Given the description of an element on the screen output the (x, y) to click on. 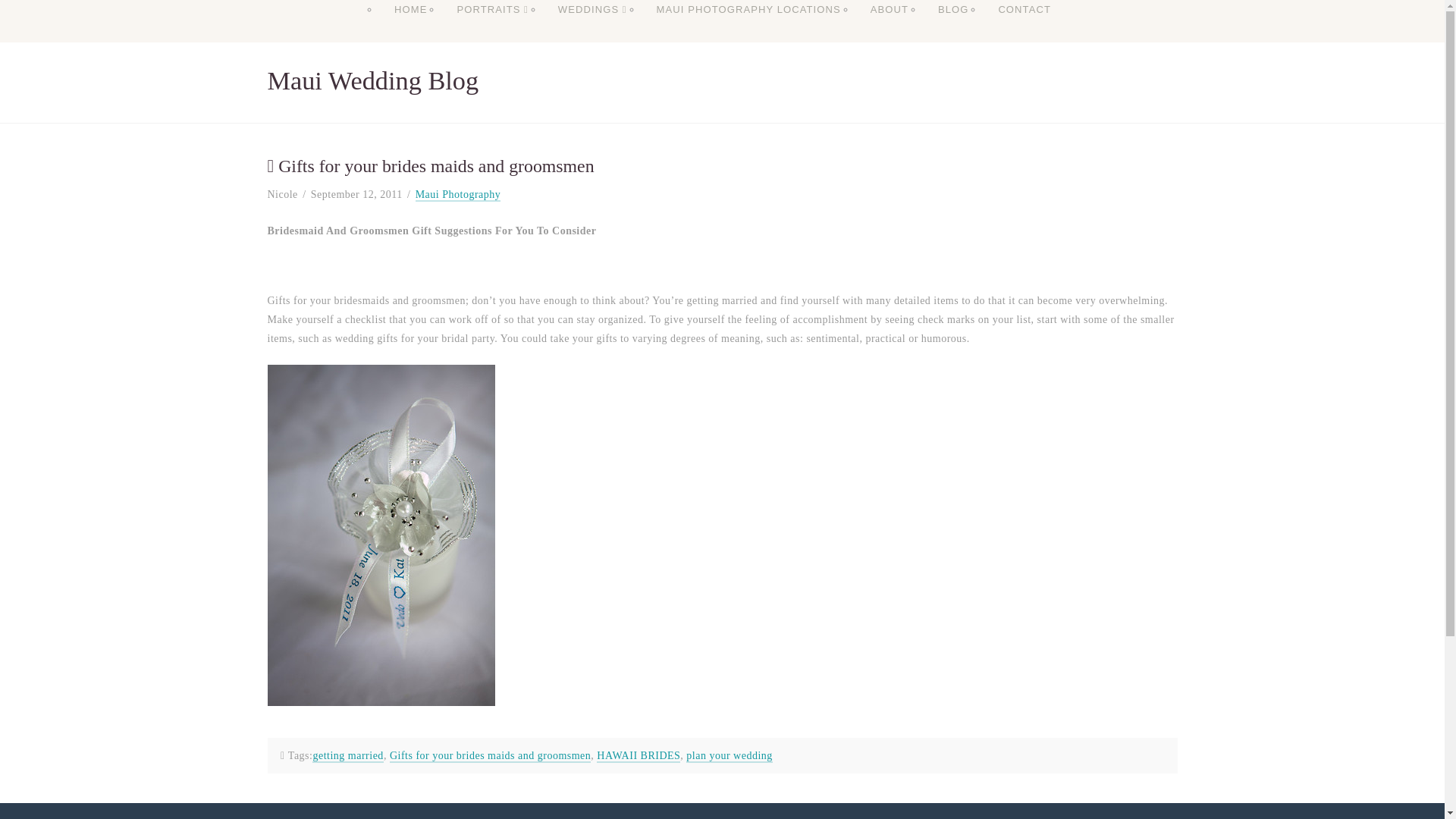
HOME (409, 23)
PORTRAITS (491, 23)
WEDDINGS (592, 23)
plan your wedding (728, 756)
CONTACT (1023, 23)
getting married (347, 756)
ABOUT (889, 23)
Gifts for your brides maids and groomsmen (490, 756)
MAUI PHOTOGRAPHY LOCATIONS (749, 23)
HAWAII BRIDES (637, 756)
